Given the description of an element on the screen output the (x, y) to click on. 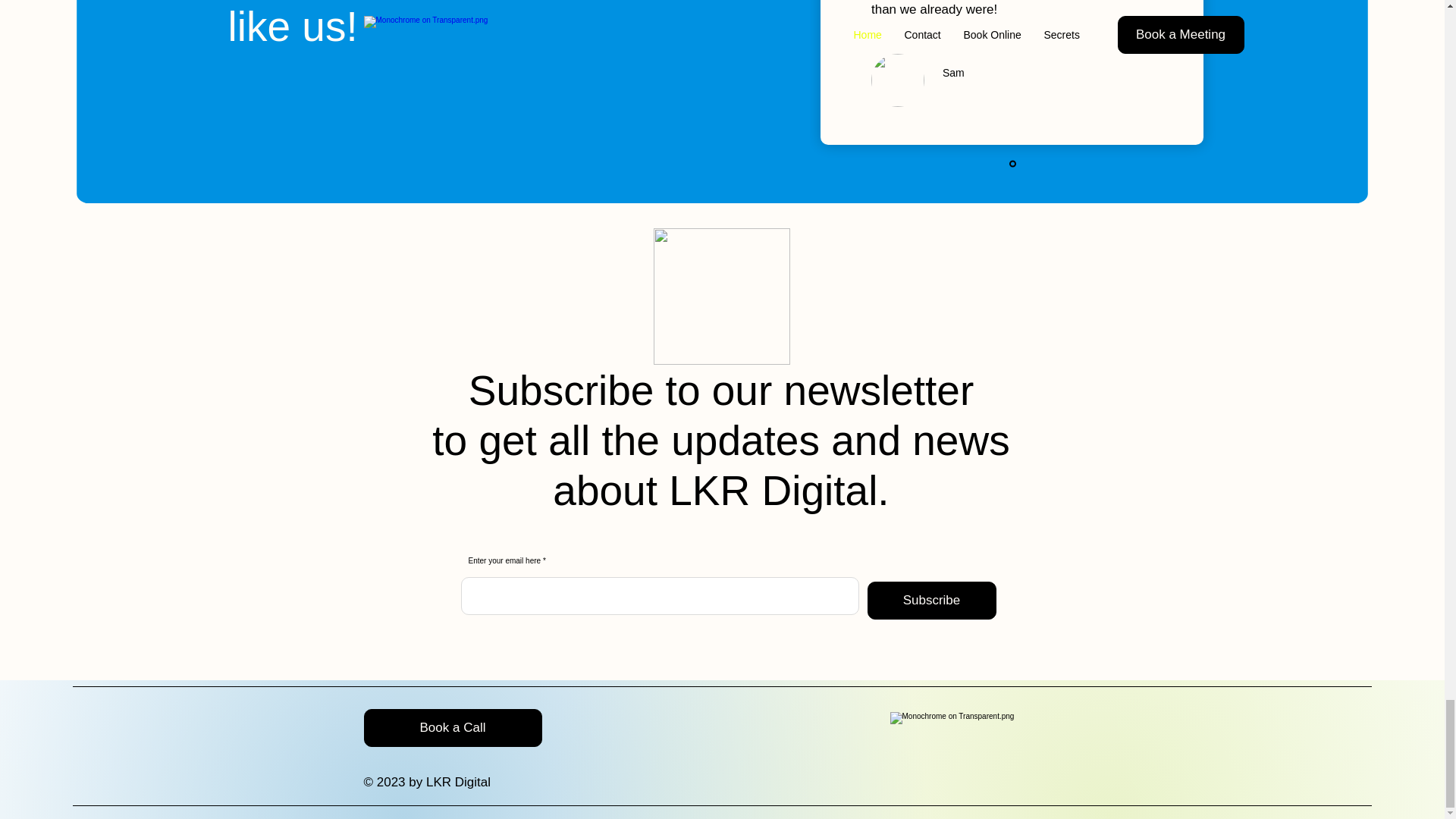
Book a Call (452, 727)
Subscribe (931, 600)
Monochrome on Transparent.png (973, 726)
